Given the description of an element on the screen output the (x, y) to click on. 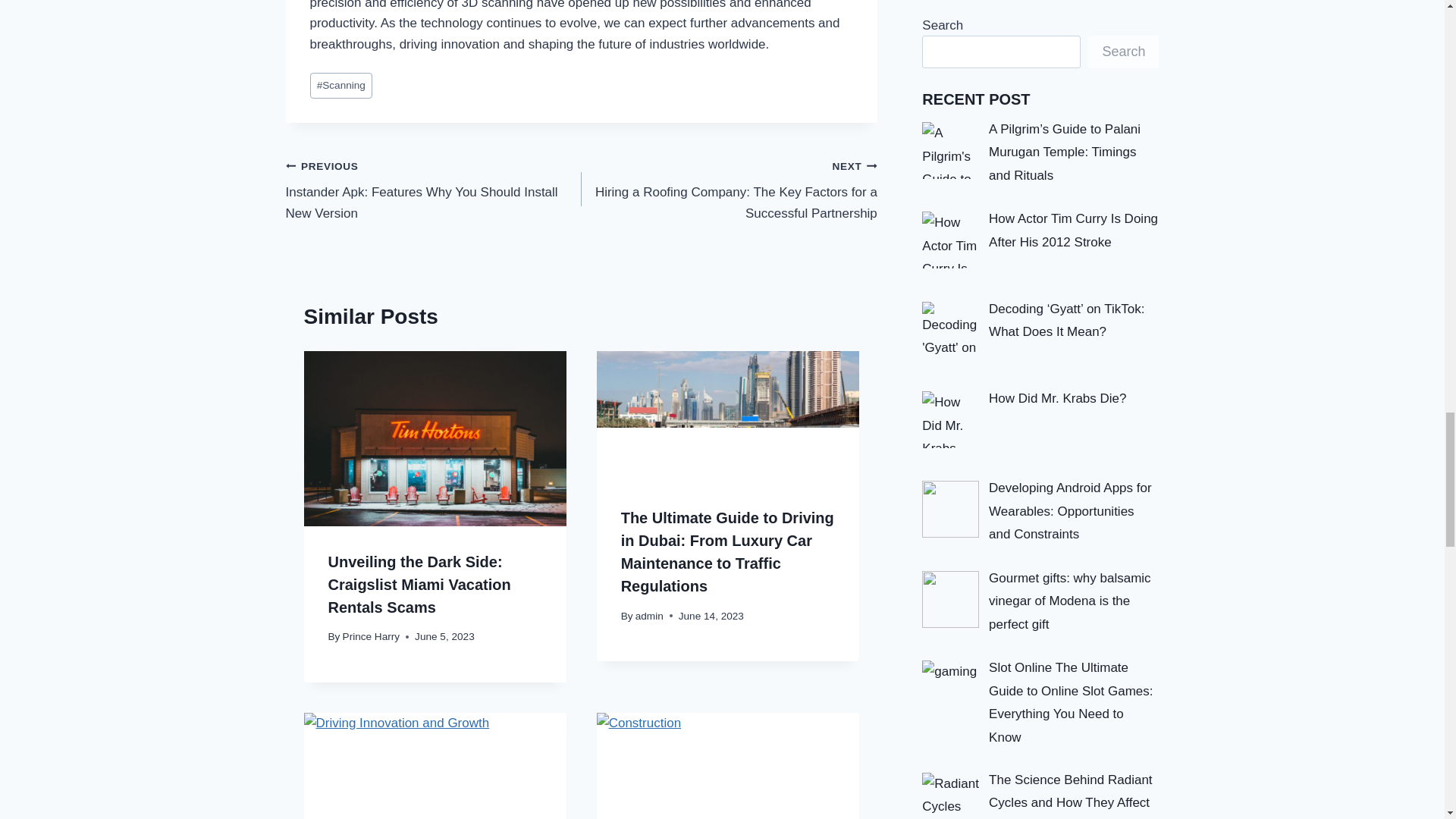
admin (648, 615)
Scanning (340, 85)
Prince Harry (371, 636)
